Given the description of an element on the screen output the (x, y) to click on. 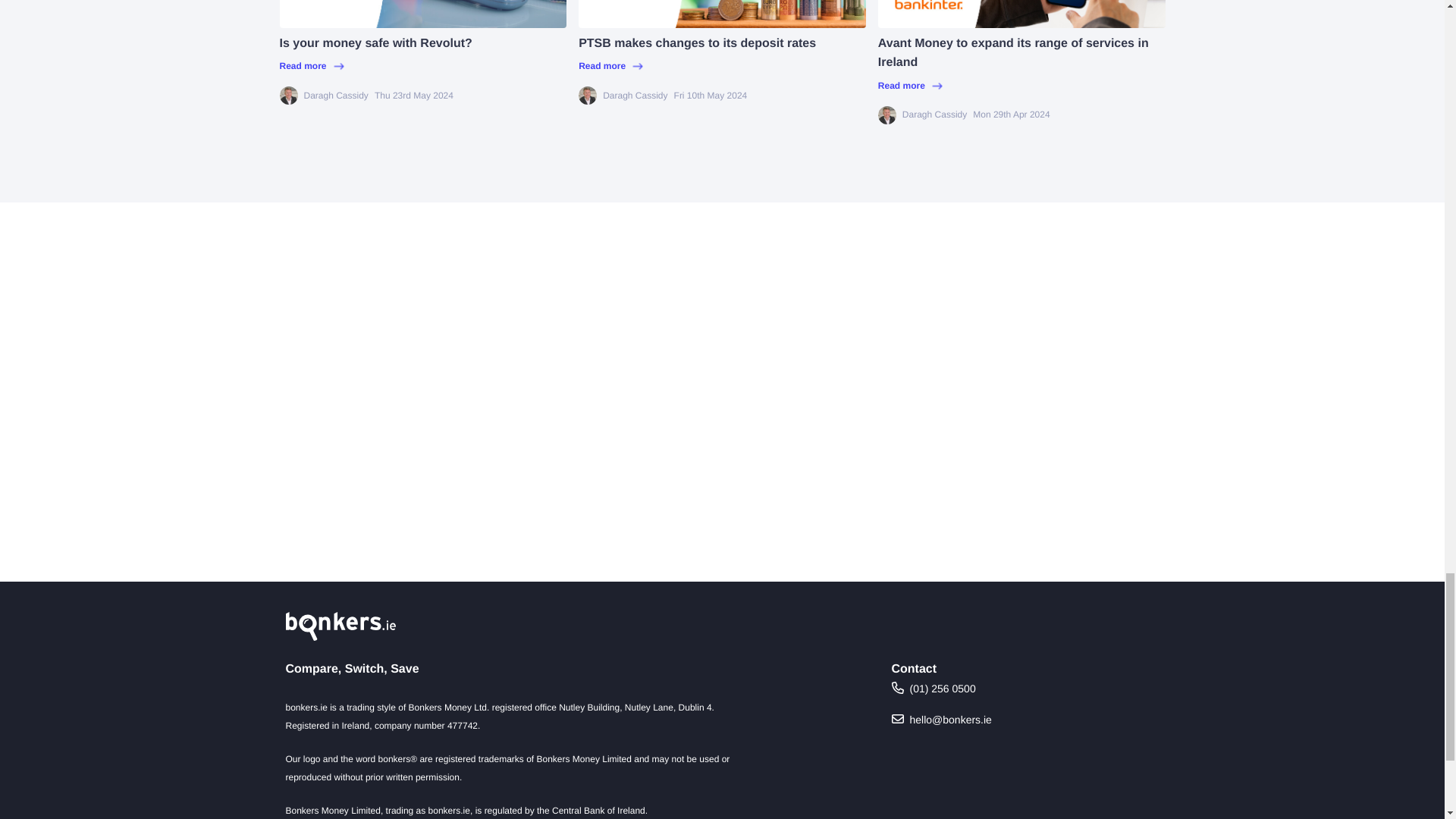
Read more (1021, 85)
Read more (422, 65)
bonkers.ie (339, 625)
Read more (722, 65)
